Given the description of an element on the screen output the (x, y) to click on. 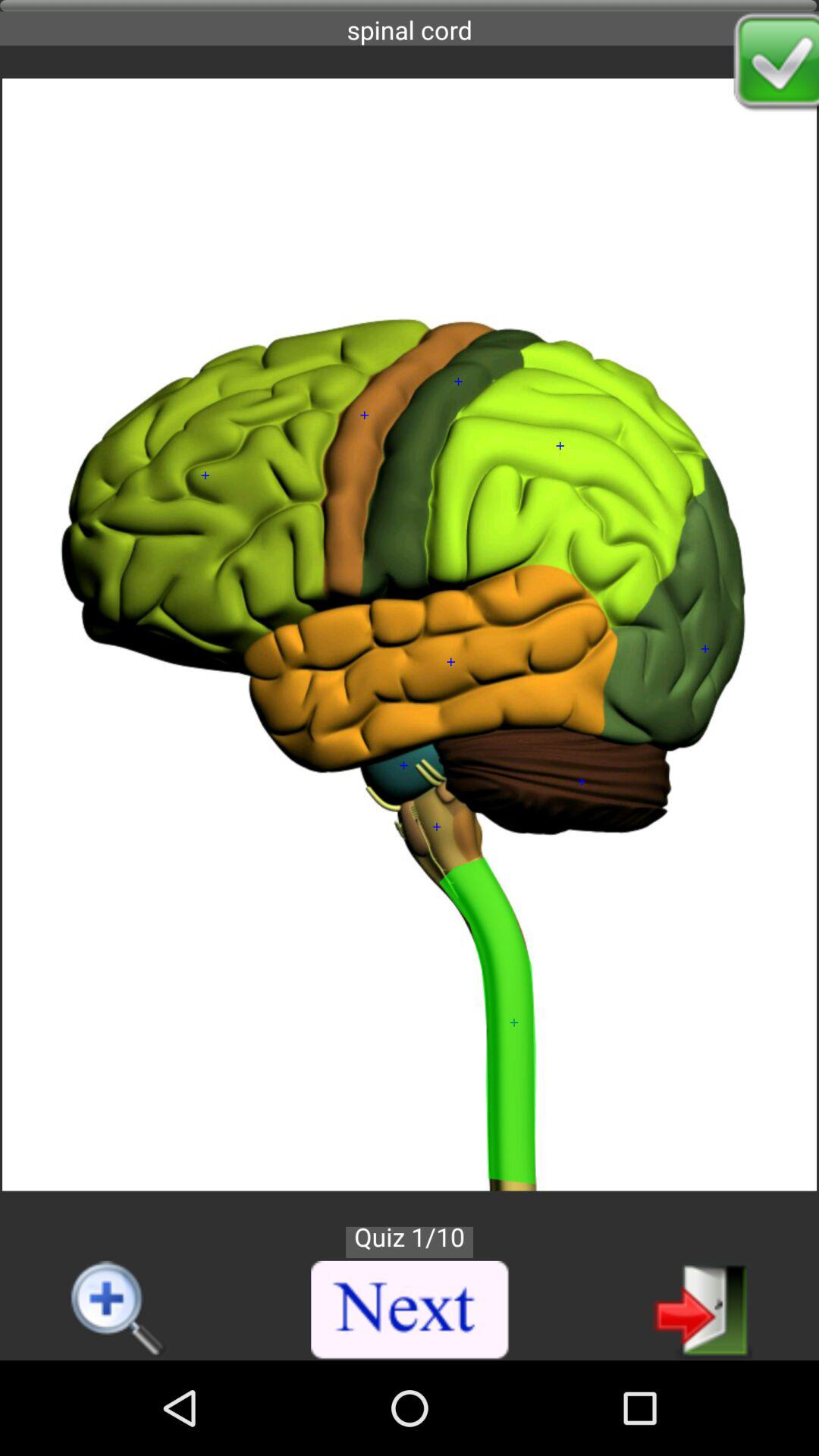
exit the app (702, 1309)
